Given the description of an element on the screen output the (x, y) to click on. 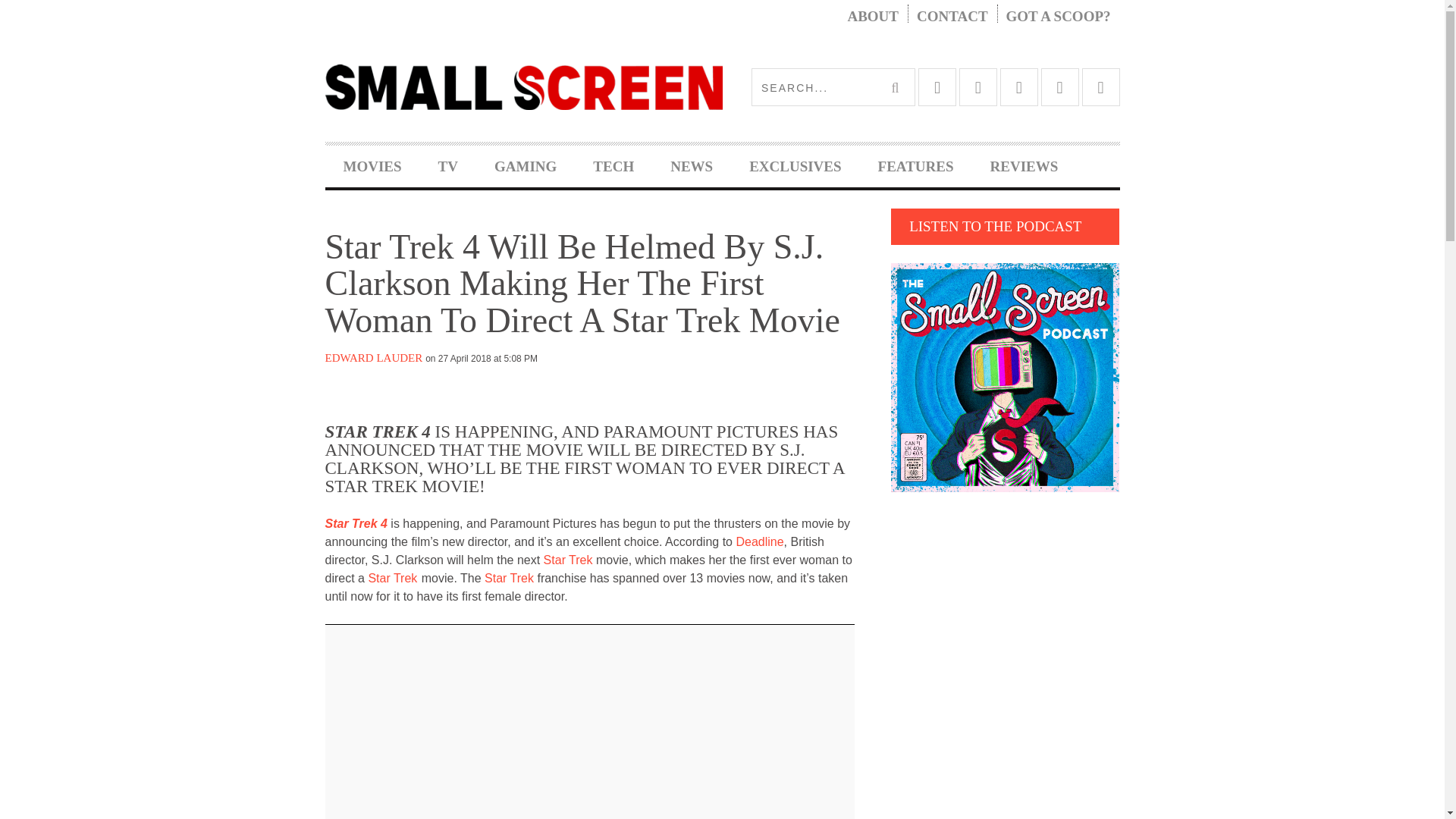
Posts by Edward Lauder (373, 357)
CONTACT (952, 16)
ABOUT (872, 16)
GOT A SCOOP? (1058, 16)
Small Screen (523, 86)
